Given the description of an element on the screen output the (x, y) to click on. 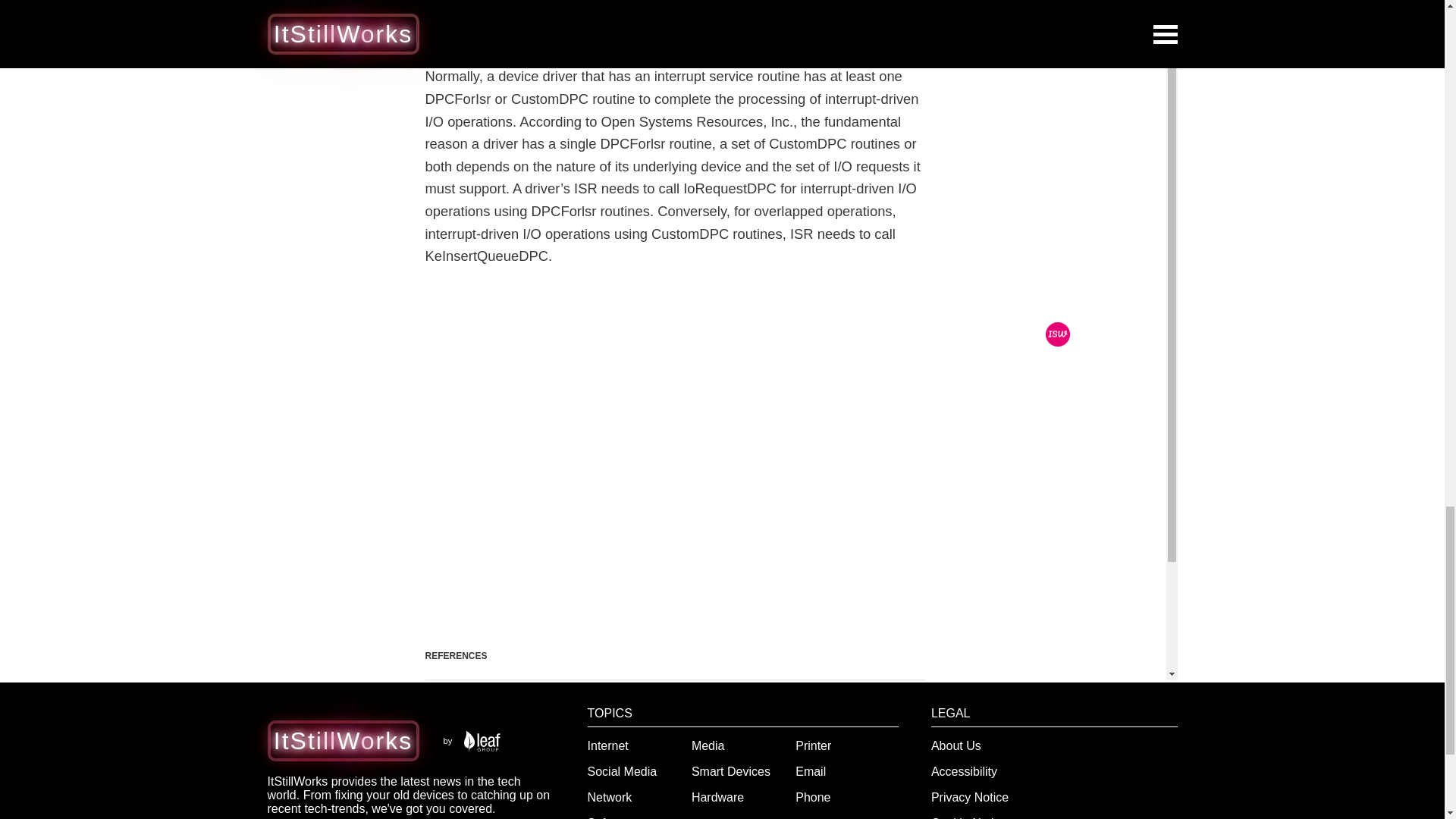
ItStillWorks (342, 740)
Accessibility (964, 771)
About Us (956, 745)
Smart Devices (730, 771)
Network (609, 797)
Phone (811, 797)
Hardware (717, 797)
Email (809, 771)
Privacy Notice (970, 797)
Printer (812, 745)
